Given the description of an element on the screen output the (x, y) to click on. 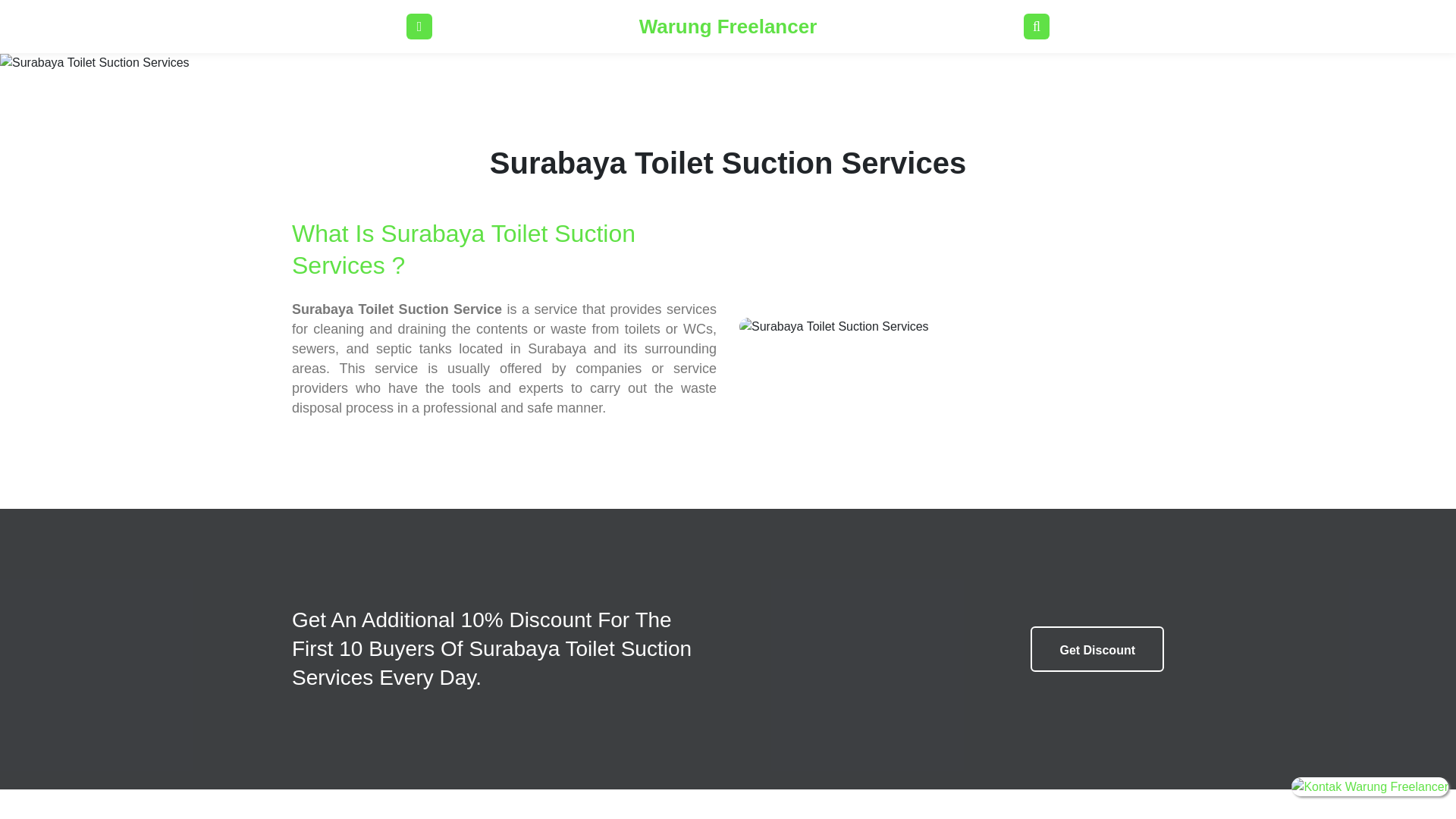
Surabaya Toilet Suction Services (94, 63)
search (1036, 26)
Jasa Sedot WC Surabaya (419, 26)
Get Discount (1096, 648)
Freelance Digital Marketing Services (727, 26)
Warung Freelancer (727, 26)
Surabaya Toilet Suction Services (833, 326)
